Given the description of an element on the screen output the (x, y) to click on. 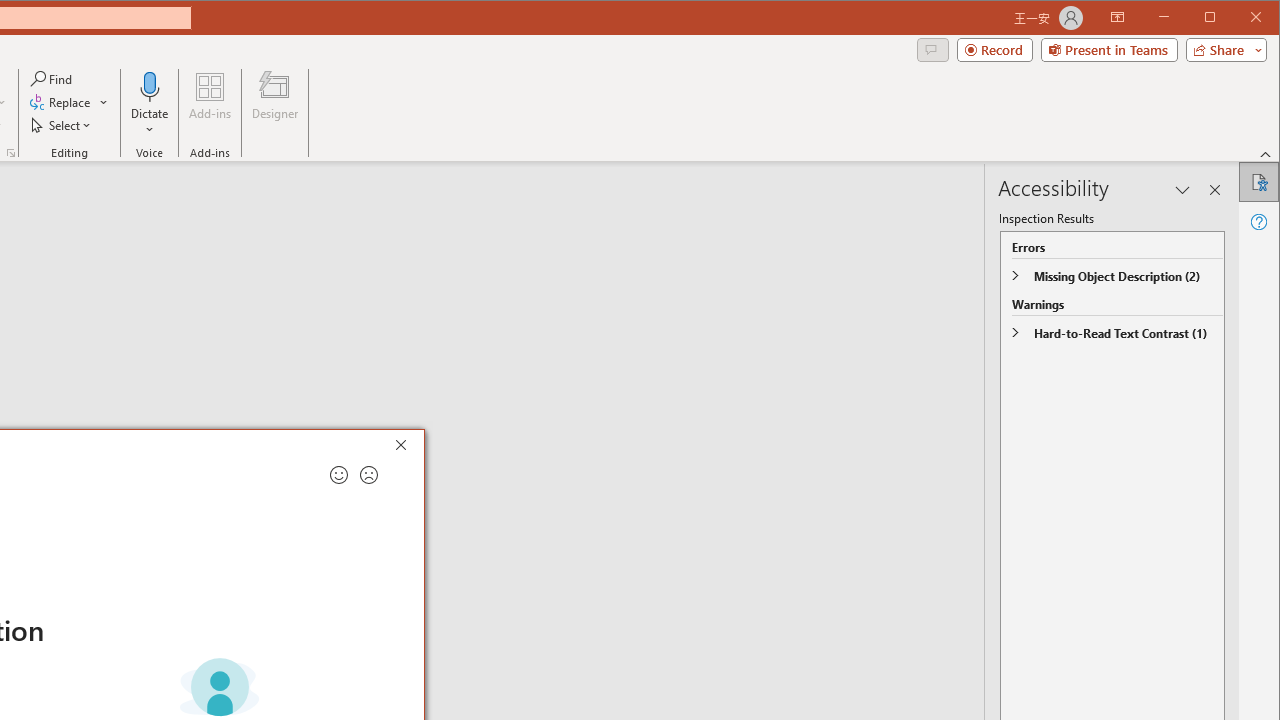
Send a frown for feedback (369, 475)
